Given the description of an element on the screen output the (x, y) to click on. 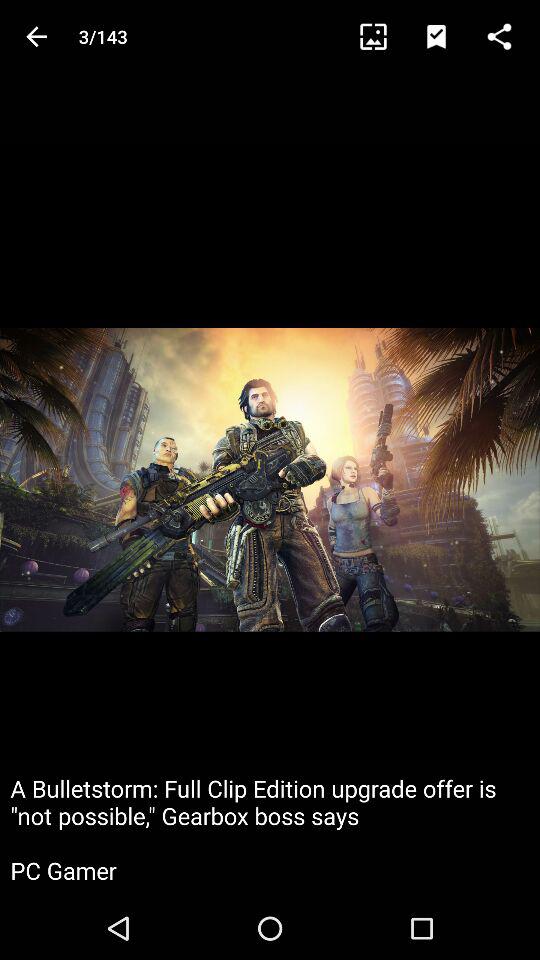
open the item to the left of 3/143 (36, 36)
